Given the description of an element on the screen output the (x, y) to click on. 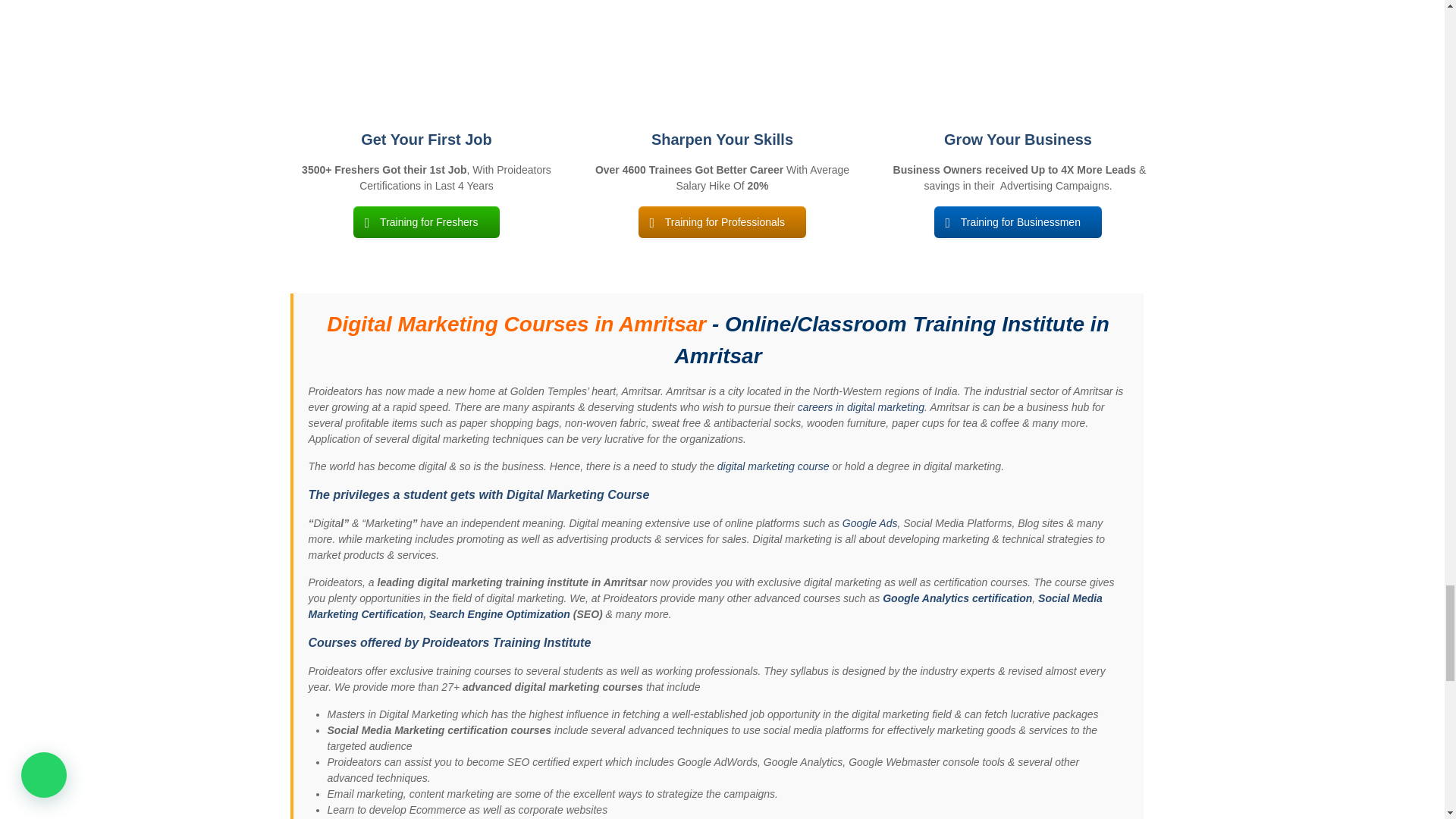
Entrepreneurs (1017, 53)
Looking for a job (425, 53)
Working Professionals (722, 53)
